Given the description of an element on the screen output the (x, y) to click on. 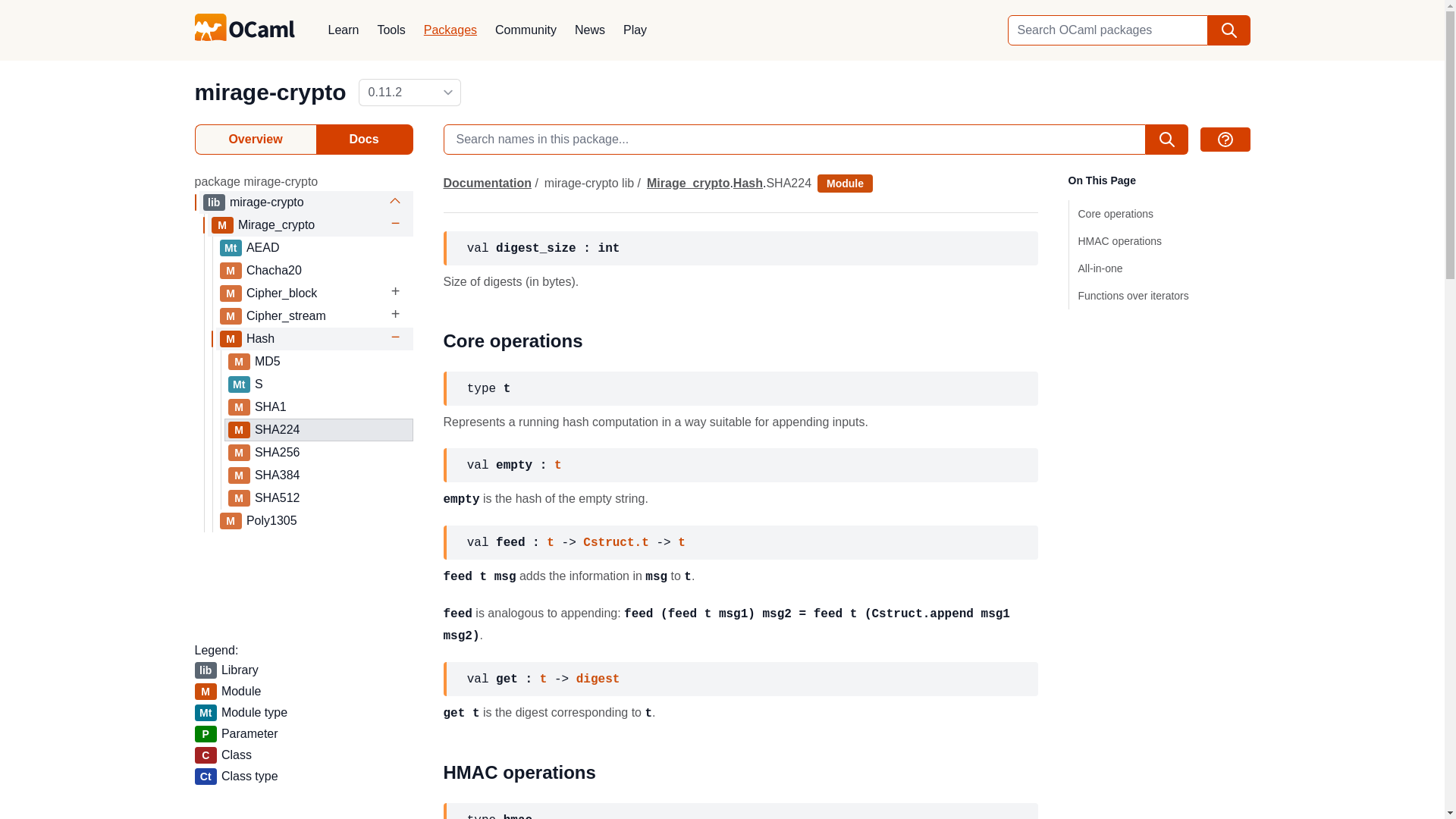
Module Chacha20 (315, 270)
Library mirage-crypto (307, 201)
mirage-crypto (269, 91)
Packages (450, 30)
Learn (343, 30)
package mirage-crypto (255, 180)
show search instructions (1224, 139)
News (590, 30)
Overview (254, 139)
Community (526, 30)
